Given the description of an element on the screen output the (x, y) to click on. 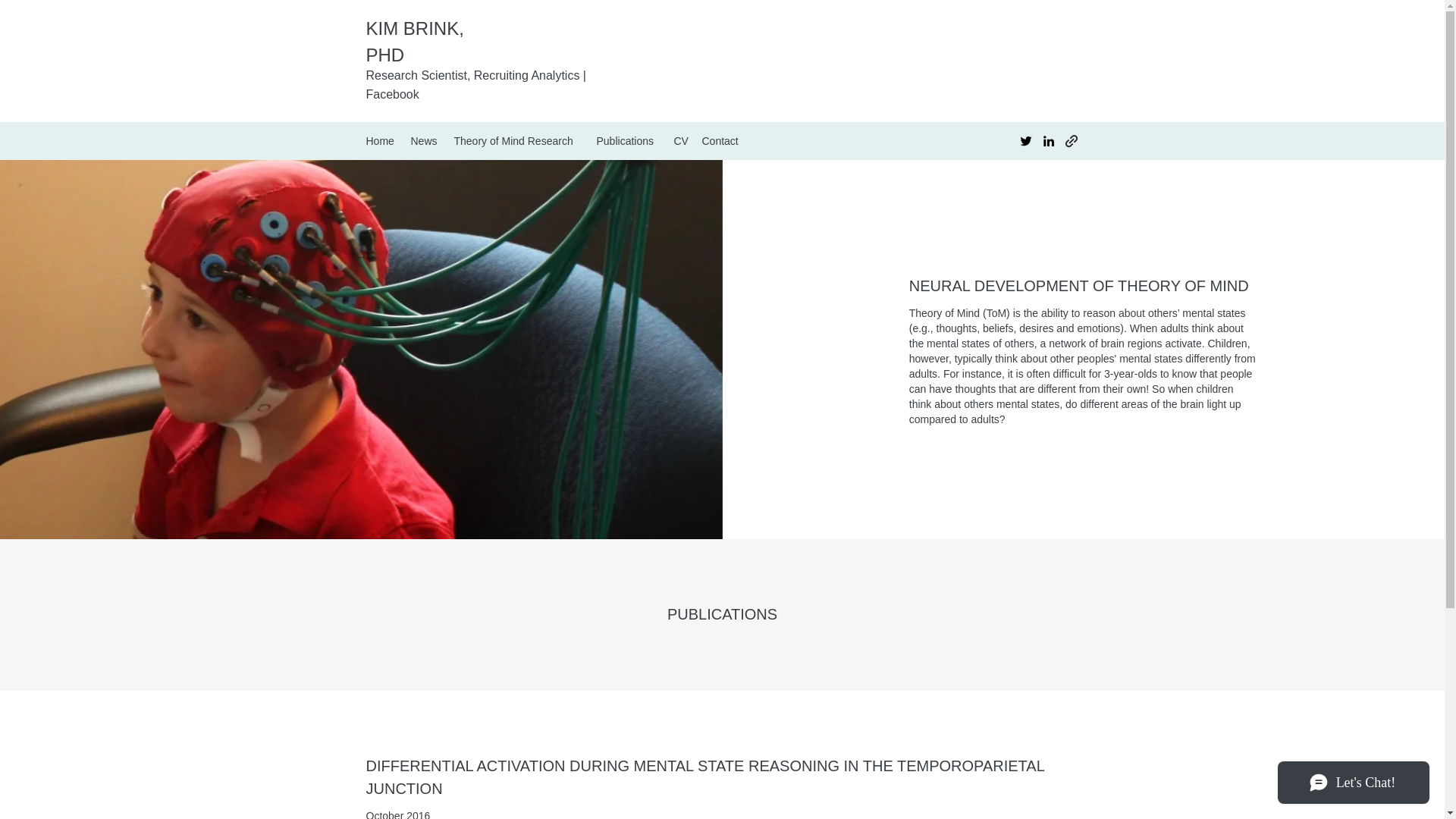
Publications (626, 140)
Contact (721, 140)
Home (380, 140)
CV (679, 140)
Theory of Mind Research (516, 140)
News (424, 140)
